Given the description of an element on the screen output the (x, y) to click on. 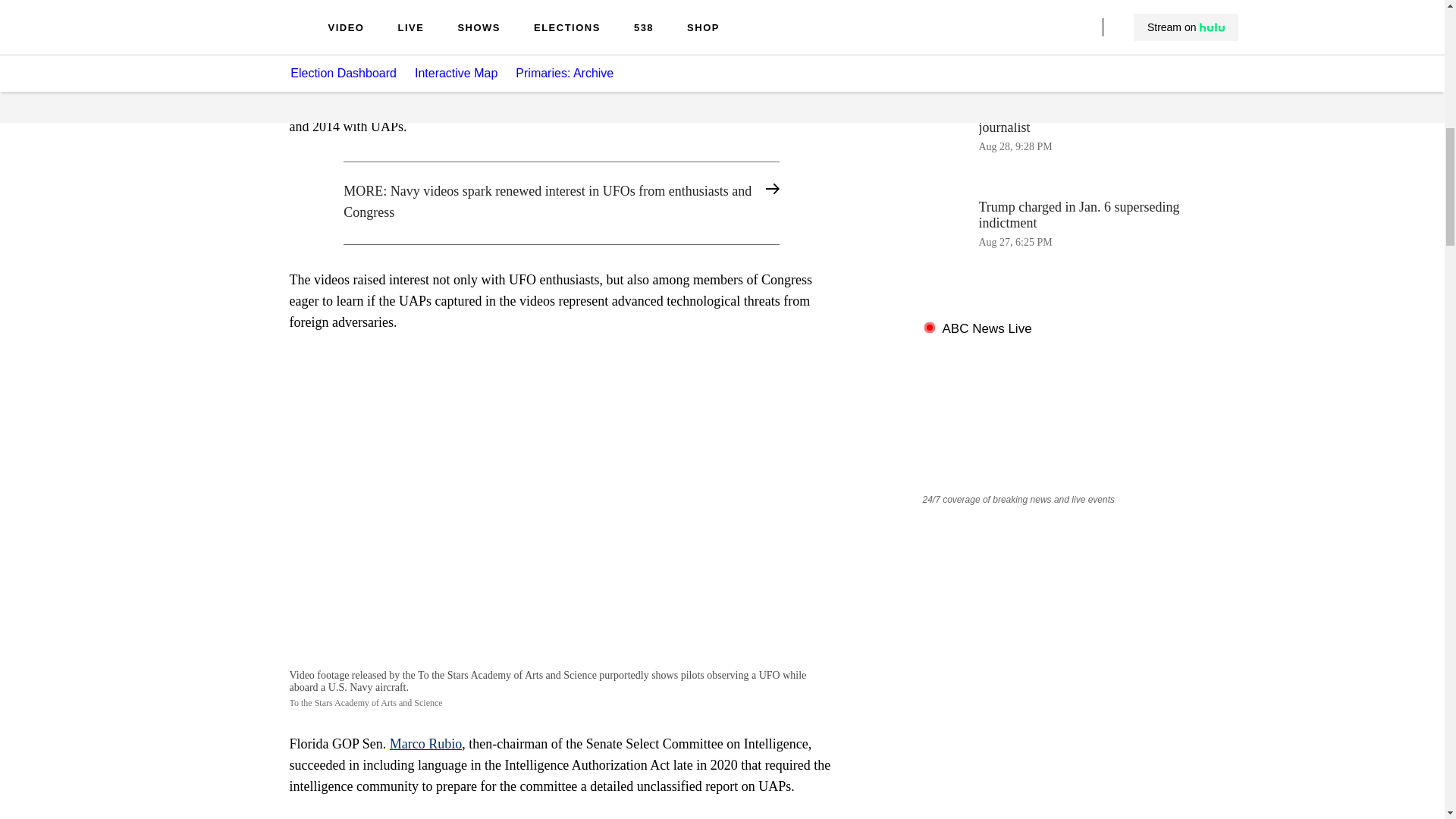
Marco Rubio (1043, 46)
